Given the description of an element on the screen output the (x, y) to click on. 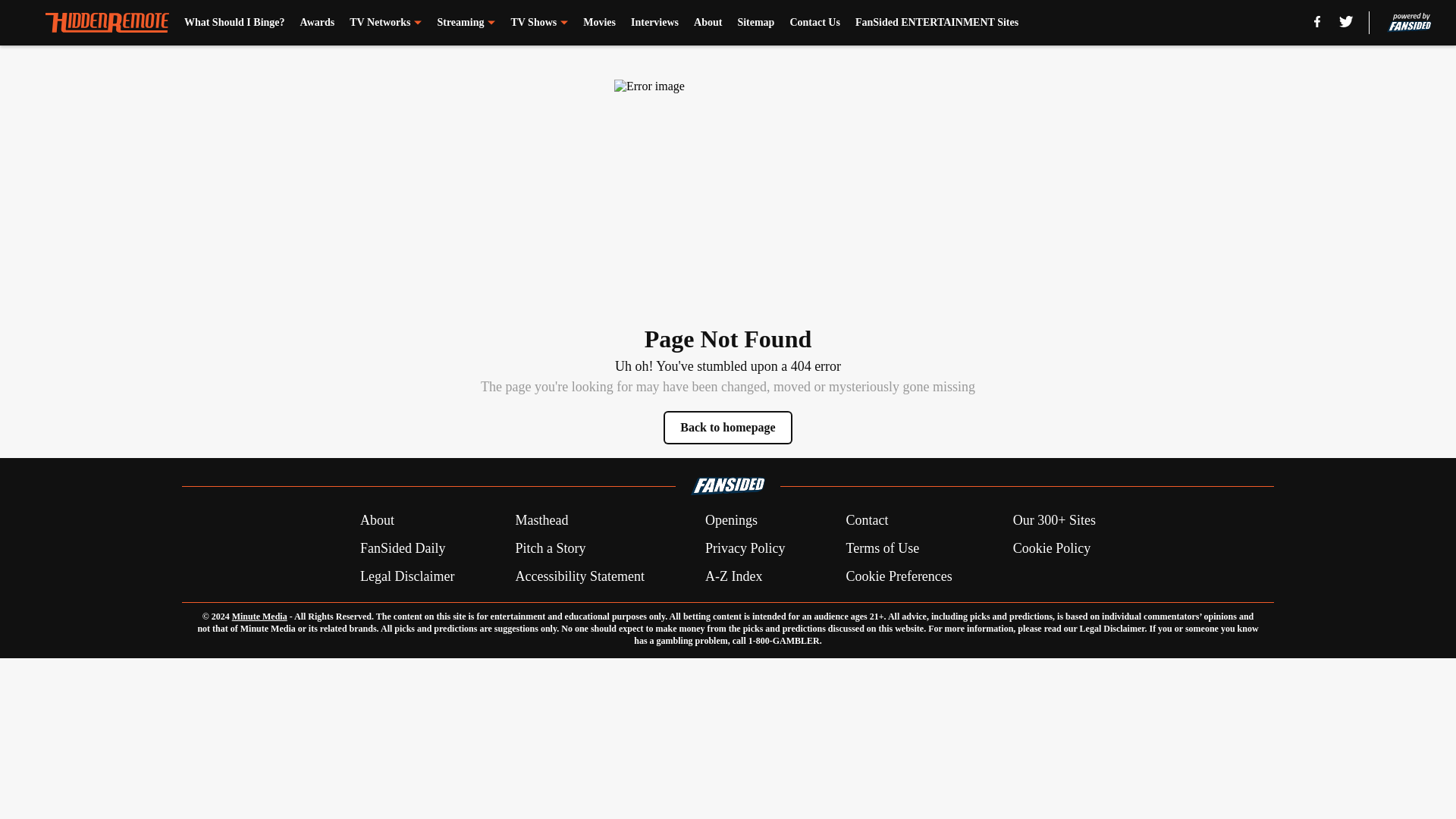
FanSided Daily (402, 548)
About (708, 22)
Masthead (541, 520)
What Should I Binge? (234, 22)
Sitemap (755, 22)
Contact Us (814, 22)
FanSided ENTERTAINMENT Sites (936, 22)
Back to homepage (727, 427)
Error image (727, 193)
Movies (599, 22)
About (376, 520)
Interviews (654, 22)
Awards (316, 22)
Openings (730, 520)
Contact (866, 520)
